Given the description of an element on the screen output the (x, y) to click on. 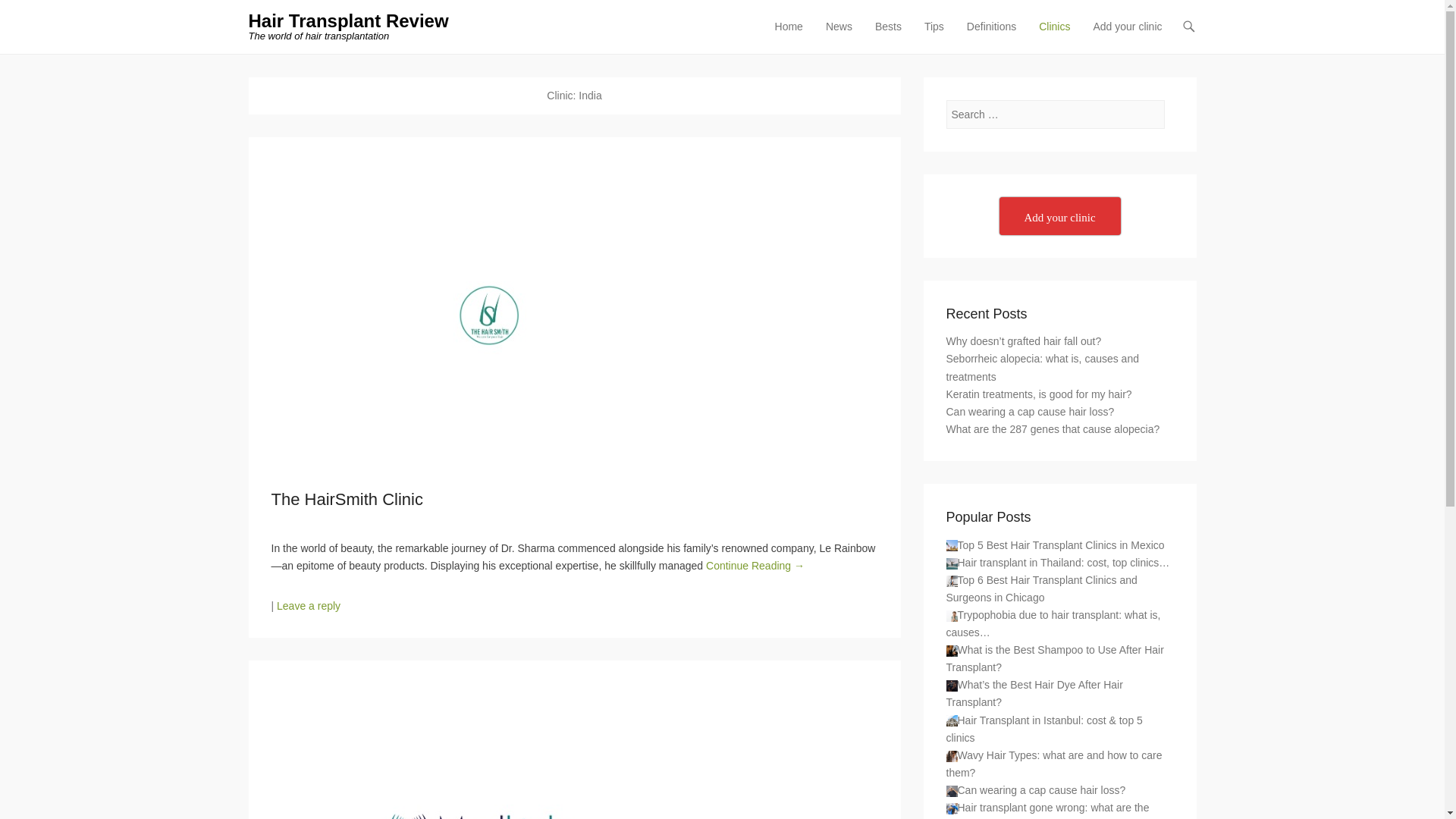
Skip to content (802, 27)
News (839, 35)
What is the Best Shampoo to Use After Hair Transplant? (952, 650)
Top 5 Best Hair Transplant Clinics in Mexico (952, 545)
Hair Transplant Review (348, 20)
Definitions (991, 35)
Leave a reply (308, 605)
Add your clinic (1126, 35)
Home (788, 35)
Permalink to Medlinks Hair Transplant (573, 751)
Skip to content (802, 27)
What's the Best Hair Dye After Hair Transplant? (952, 685)
Tips (934, 35)
Clinics (1053, 35)
Can wearing a cap cause hair loss? (952, 790)
